Given the description of an element on the screen output the (x, y) to click on. 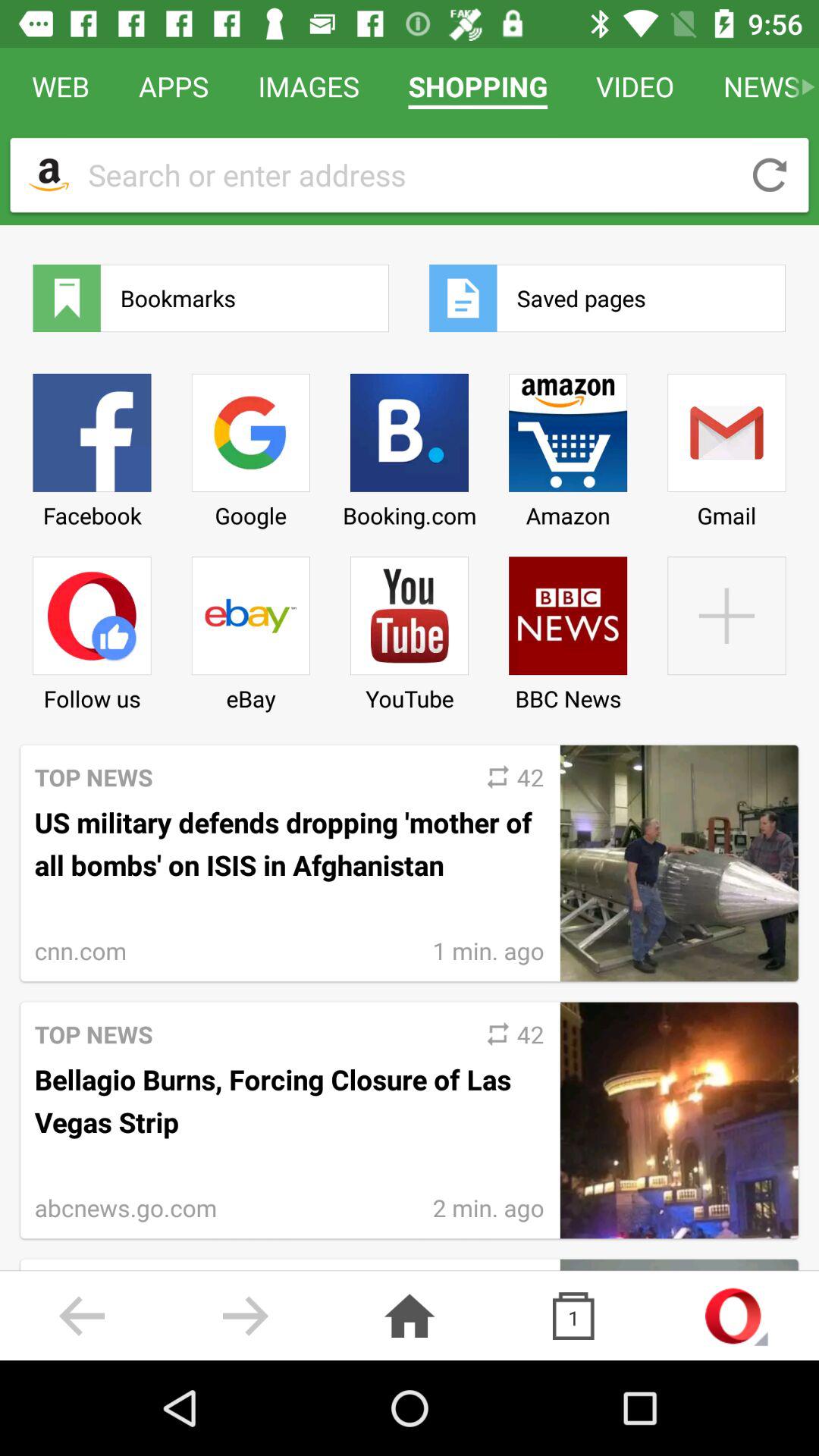
click icon below facebook item (92, 628)
